Given the description of an element on the screen output the (x, y) to click on. 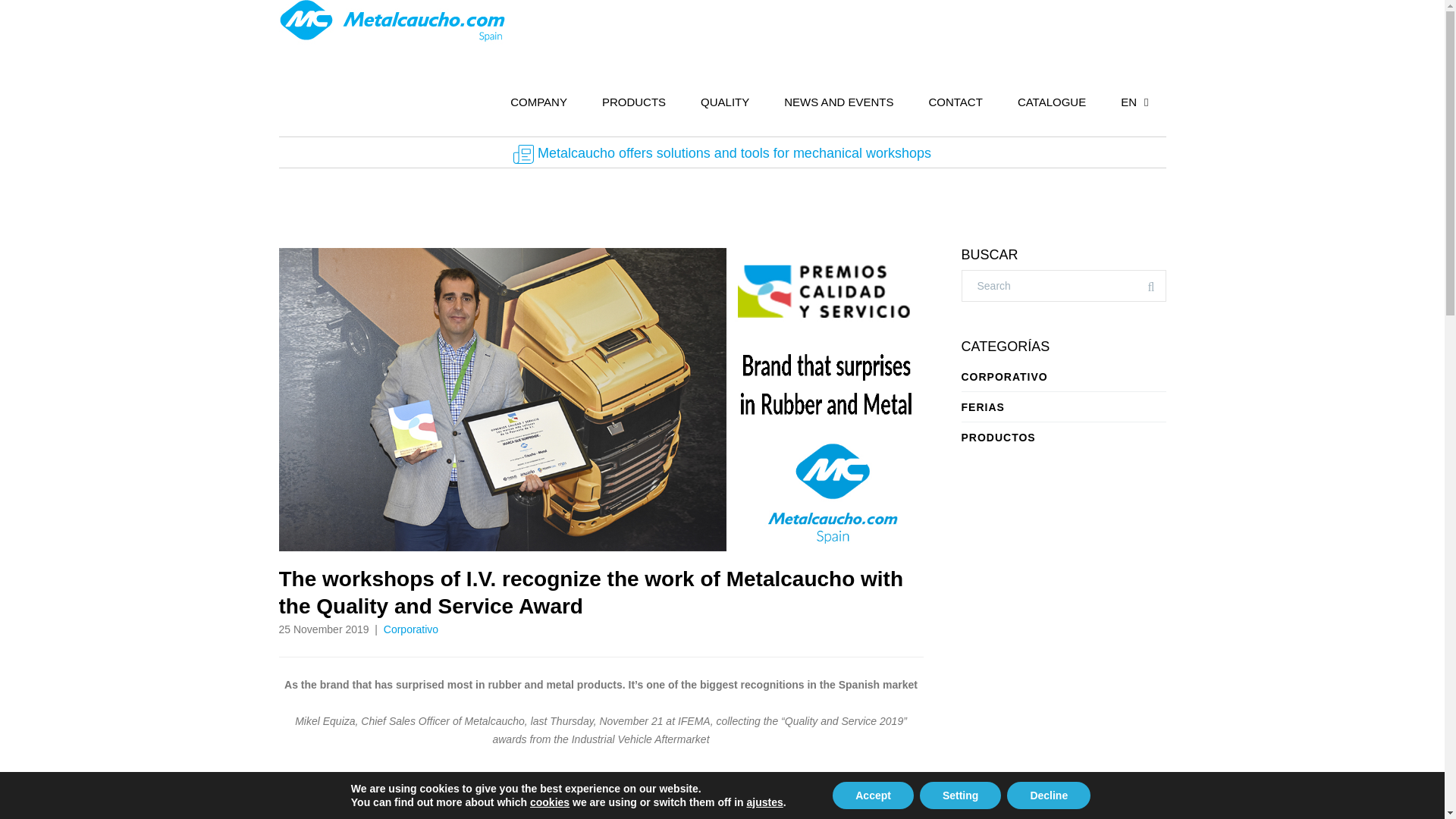
Corporativo (411, 629)
CATALOGUE (1051, 101)
FERIAS (1063, 406)
COMPANY (539, 101)
Metalcaucho (392, 22)
QUALITY (724, 101)
Metalcaucho (396, 811)
CORPORATIVO (1063, 376)
NEWS AND EVENTS (839, 101)
PRODUCTOS (1063, 437)
EN (1134, 101)
EN (1134, 101)
CONTACT (954, 101)
PRODUCTS (633, 101)
